Given the description of an element on the screen output the (x, y) to click on. 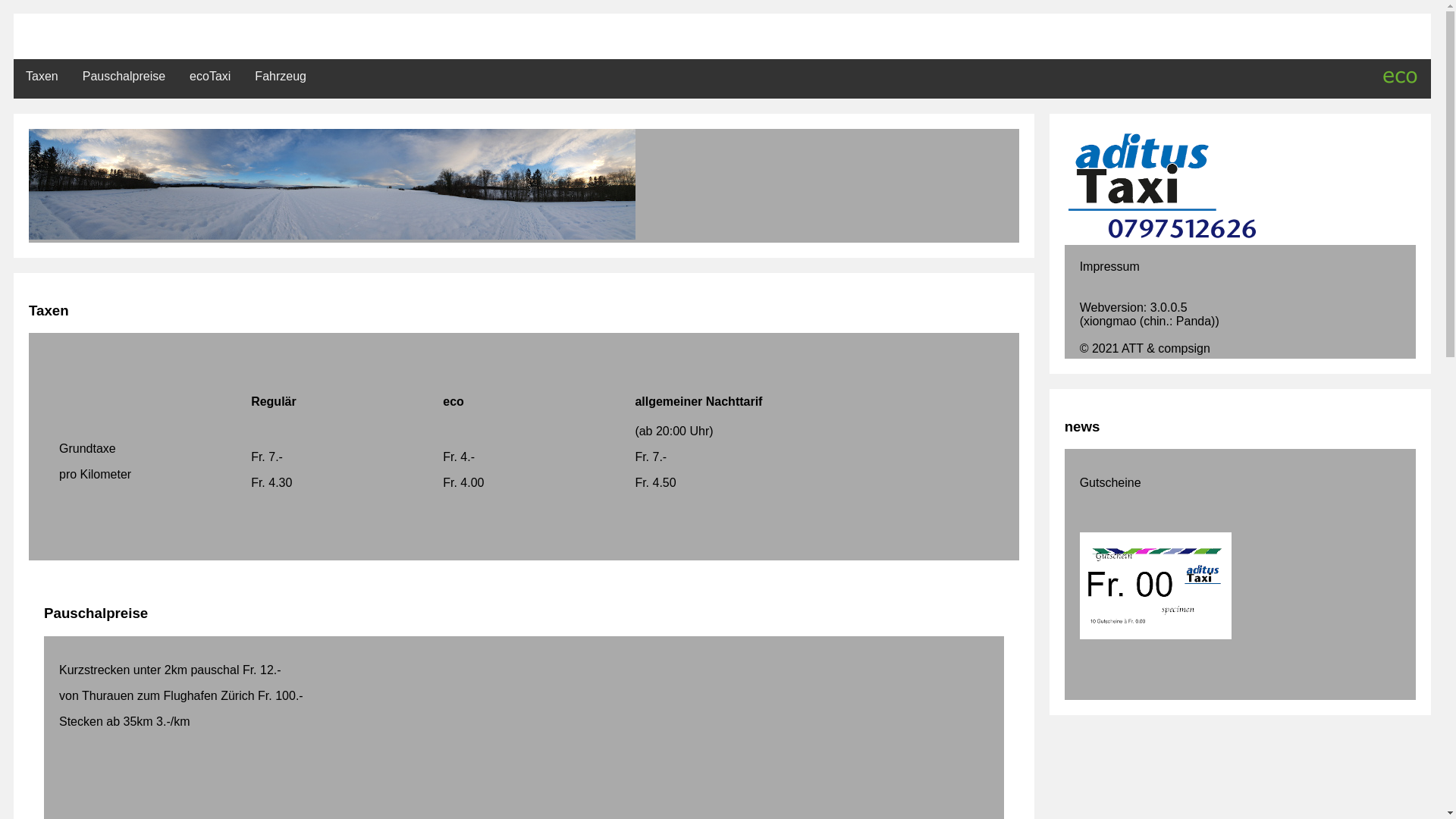
Fahrzeug Element type: text (280, 76)
Pauschalpreise Element type: text (123, 76)
ecoTaxi Element type: text (209, 76)
Taxen Element type: text (41, 76)
